Given the description of an element on the screen output the (x, y) to click on. 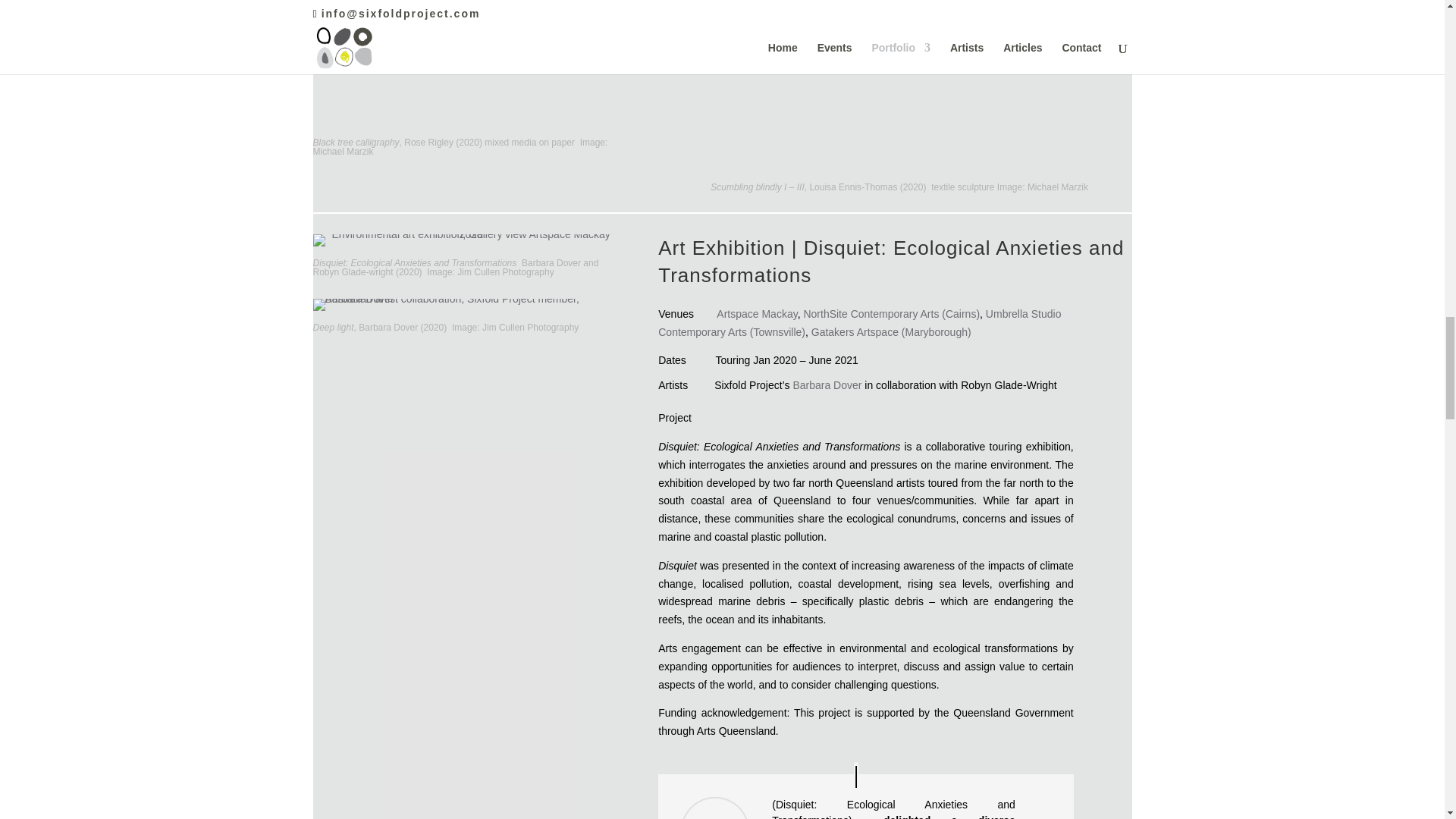
Artspace Mackay (756, 313)
Barbara Dover (826, 385)
environmental-art-exhibition-gallery-view-artspace-mackay (464, 240)
environmental-art-exhibition-disquiet-barbara-dover-2020 (462, 304)
